Given the description of an element on the screen output the (x, y) to click on. 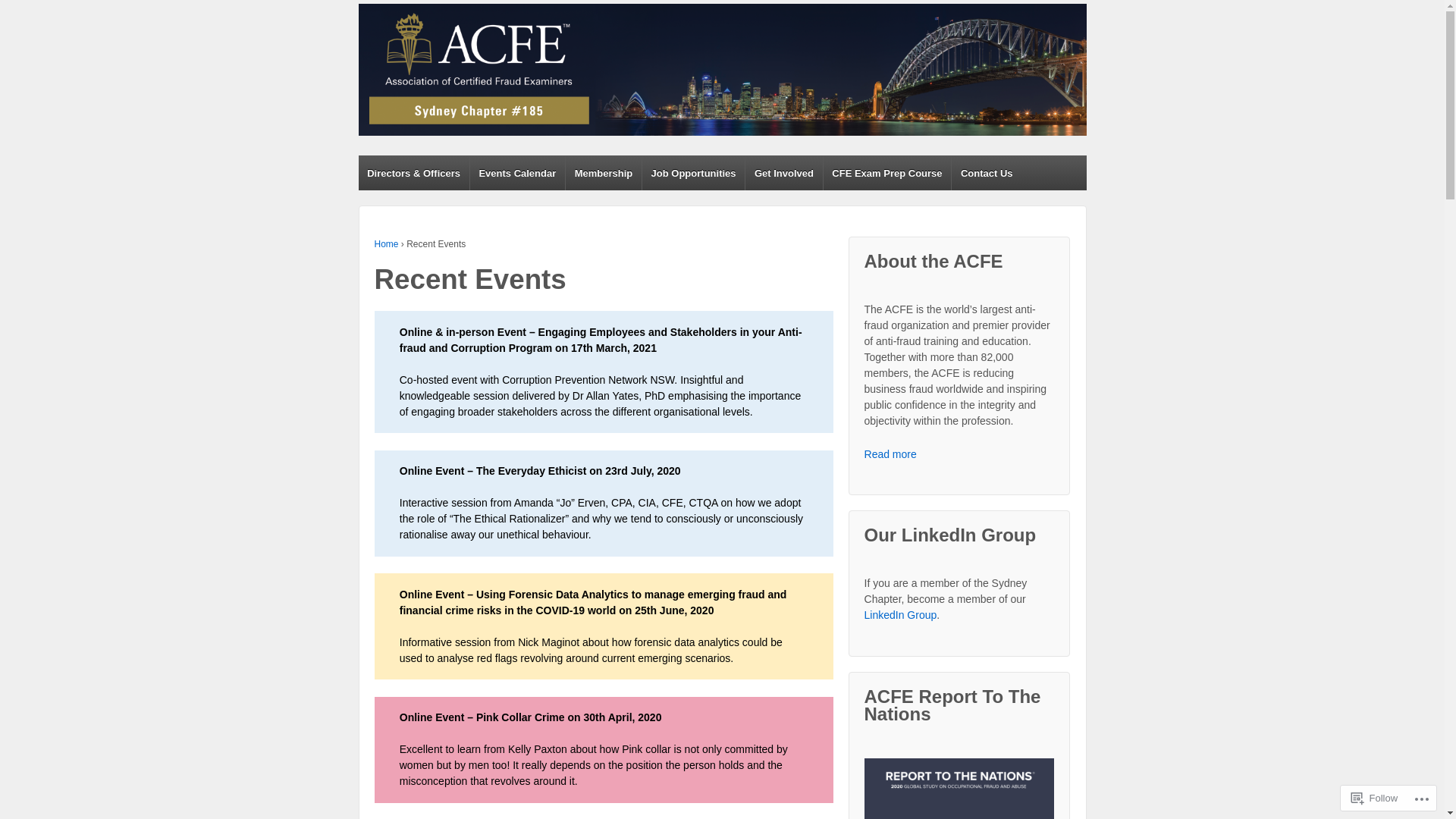
Read more Element type: text (890, 454)
Get Involved Element type: text (783, 172)
ACFE Sydney Chapter Element type: text (468, 165)
Contact Us Element type: text (985, 172)
LinkedIn Group Element type: text (900, 614)
Directors & Officers Element type: text (412, 172)
Follow Element type: text (1374, 797)
Home Element type: text (386, 243)
Skip to content Element type: text (392, 7)
Job Opportunities Element type: text (692, 172)
CFE Exam Prep Course Element type: text (886, 172)
Membership Element type: text (602, 172)
Events Calendar Element type: text (516, 172)
ACFE Sydney Chapter Element type: hover (721, 69)
